Given the description of an element on the screen output the (x, y) to click on. 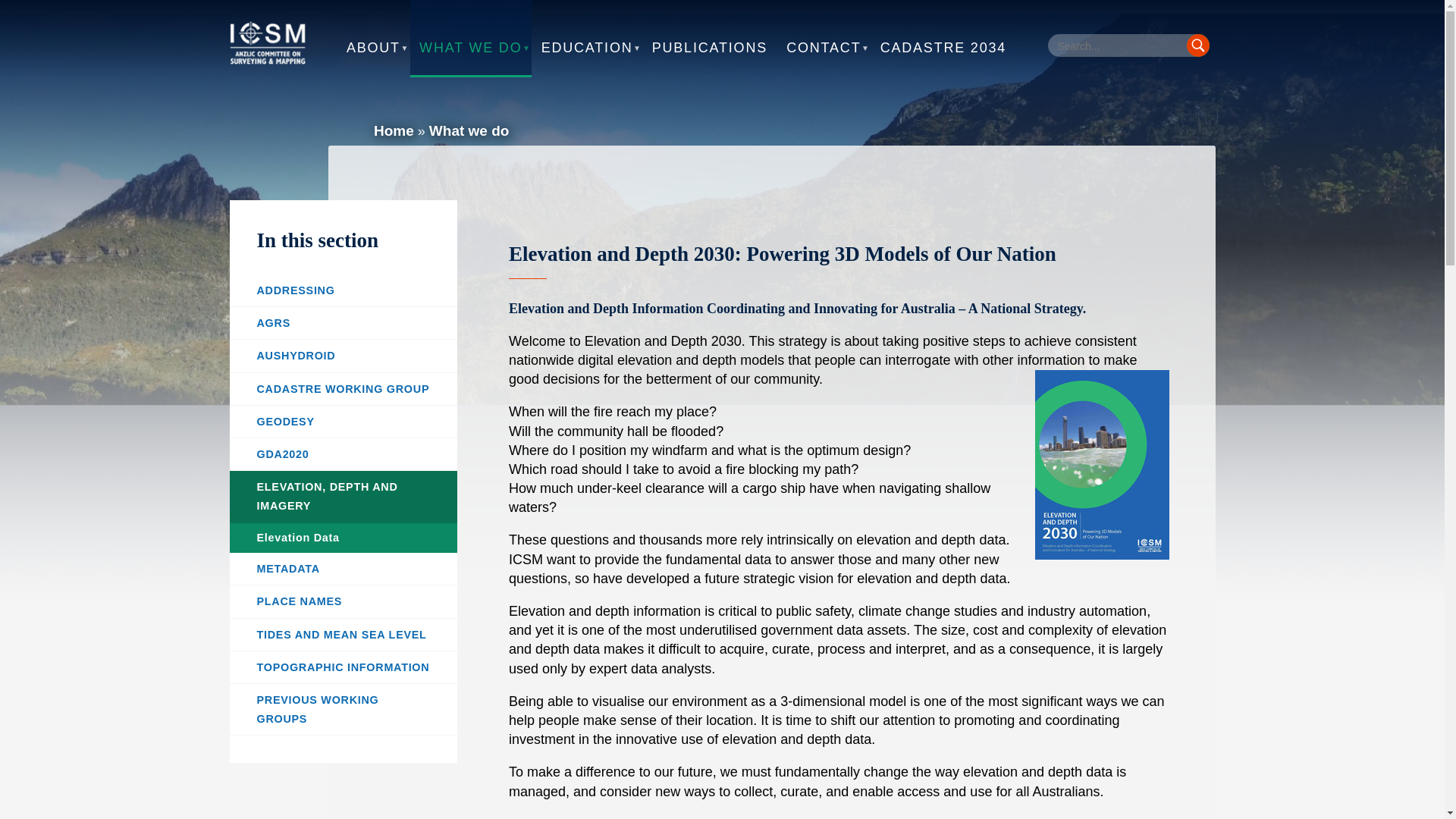
Search keywords (1128, 45)
Geocentric Datum of Australia 2020 (342, 454)
Press enter to submit (1197, 45)
Search (1197, 45)
